Given the description of an element on the screen output the (x, y) to click on. 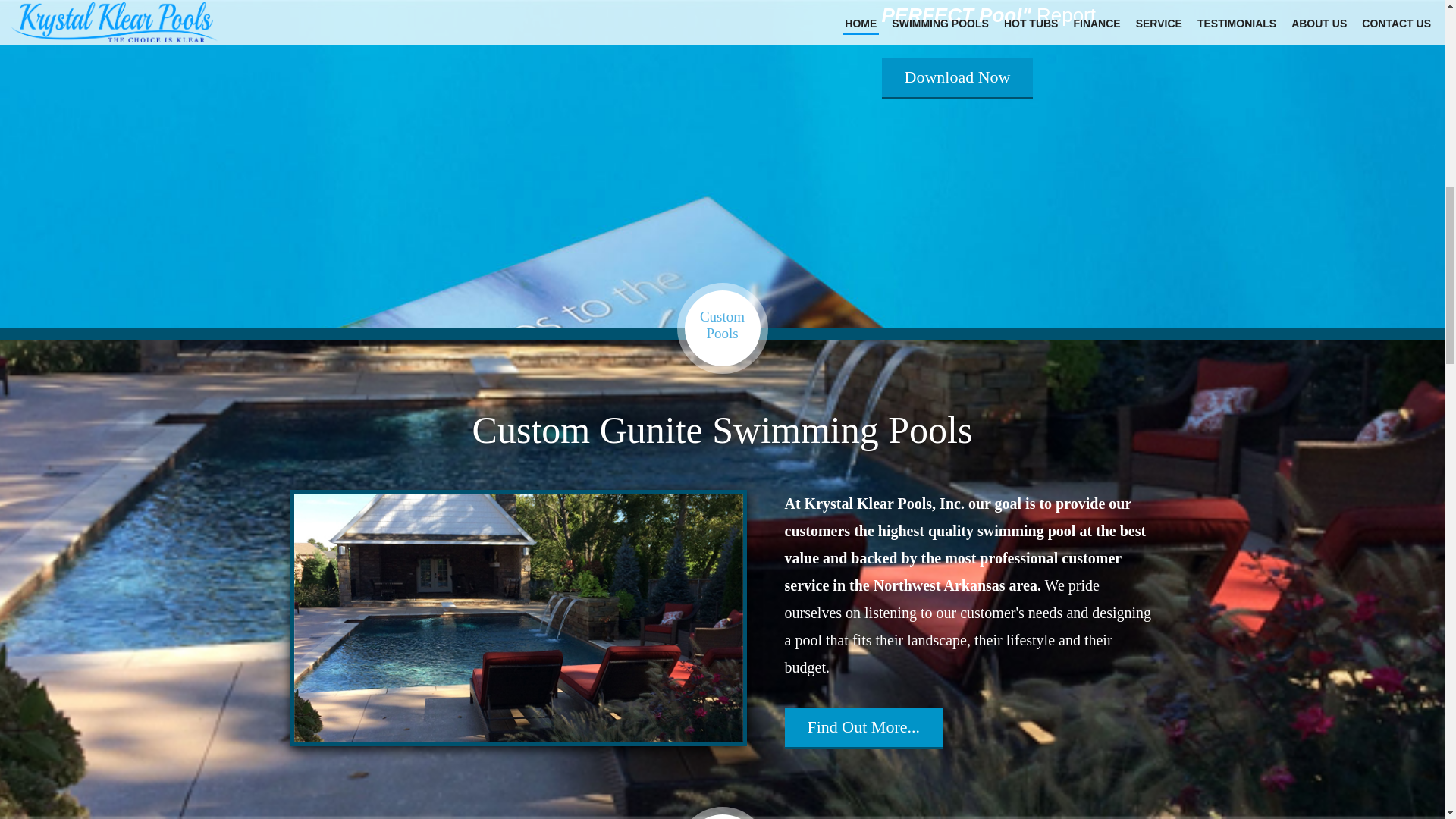
Download Now (956, 77)
Find Out More... (863, 726)
